Given the description of an element on the screen output the (x, y) to click on. 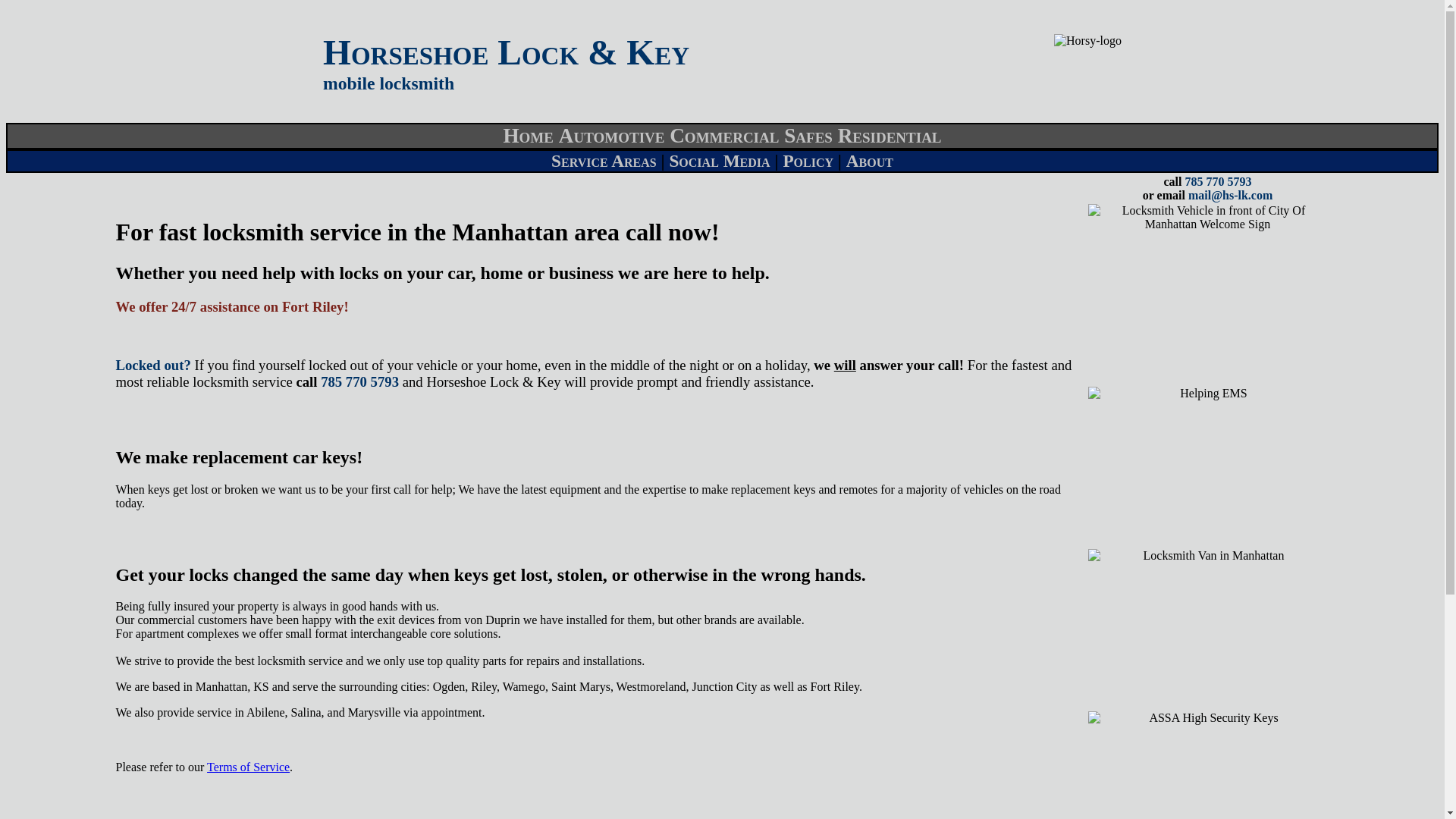
Policy (807, 160)
About (869, 160)
Commercial (723, 135)
Home (527, 135)
Service Areas (603, 160)
Automotive (612, 135)
785 770 5793 (1217, 181)
Terms of Service (247, 766)
Social Media (719, 160)
Residential (890, 135)
